Given the description of an element on the screen output the (x, y) to click on. 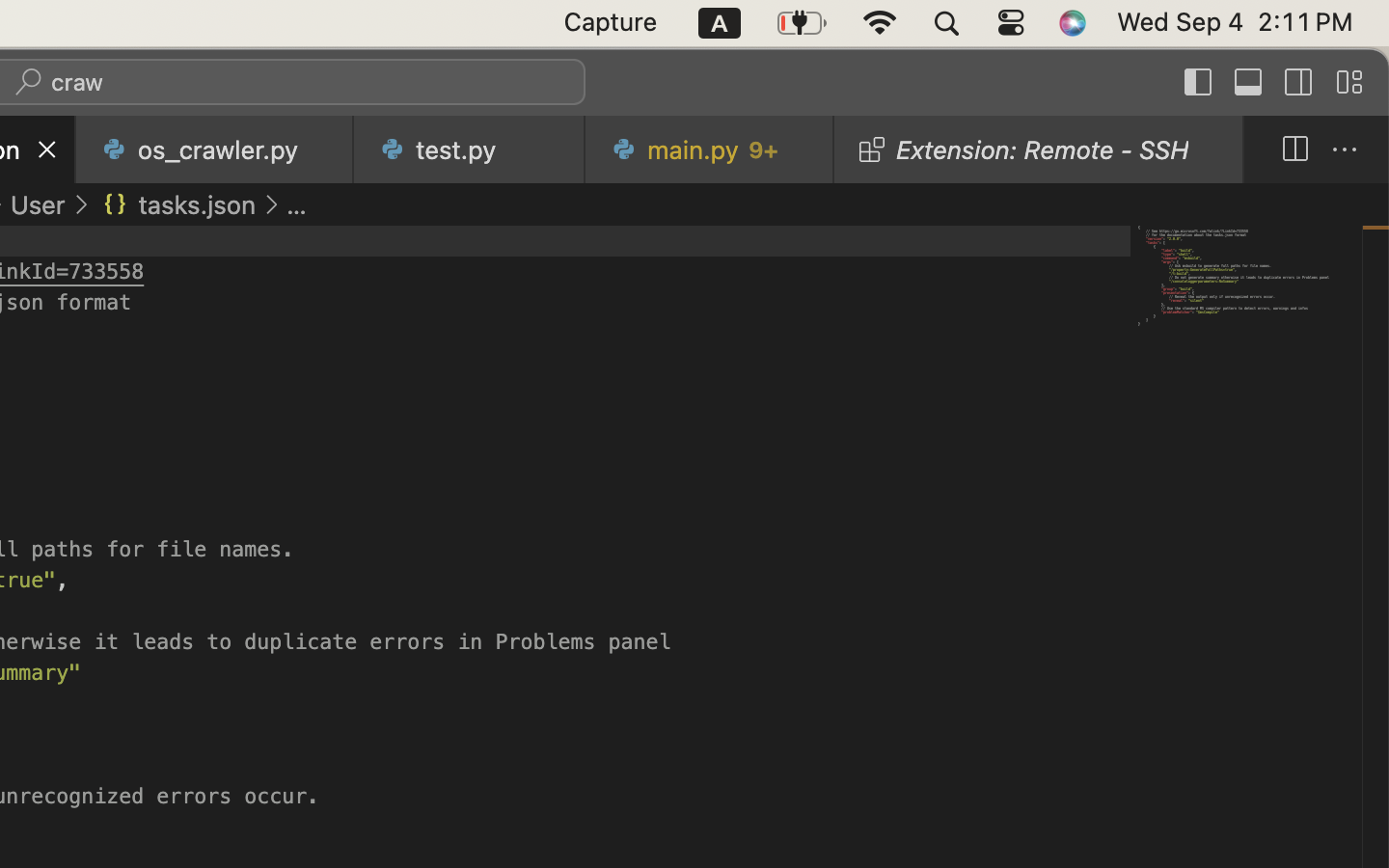
 Element type: AXCheckBox (1248, 82)
… Element type: AXStaticText (296, 204)
 Element type: AXStaticText (1344, 150)
0 test.py   Element type: AXRadioButton (470, 149)
 Element type: AXCheckBox (1299, 82)
